Given the description of an element on the screen output the (x, y) to click on. 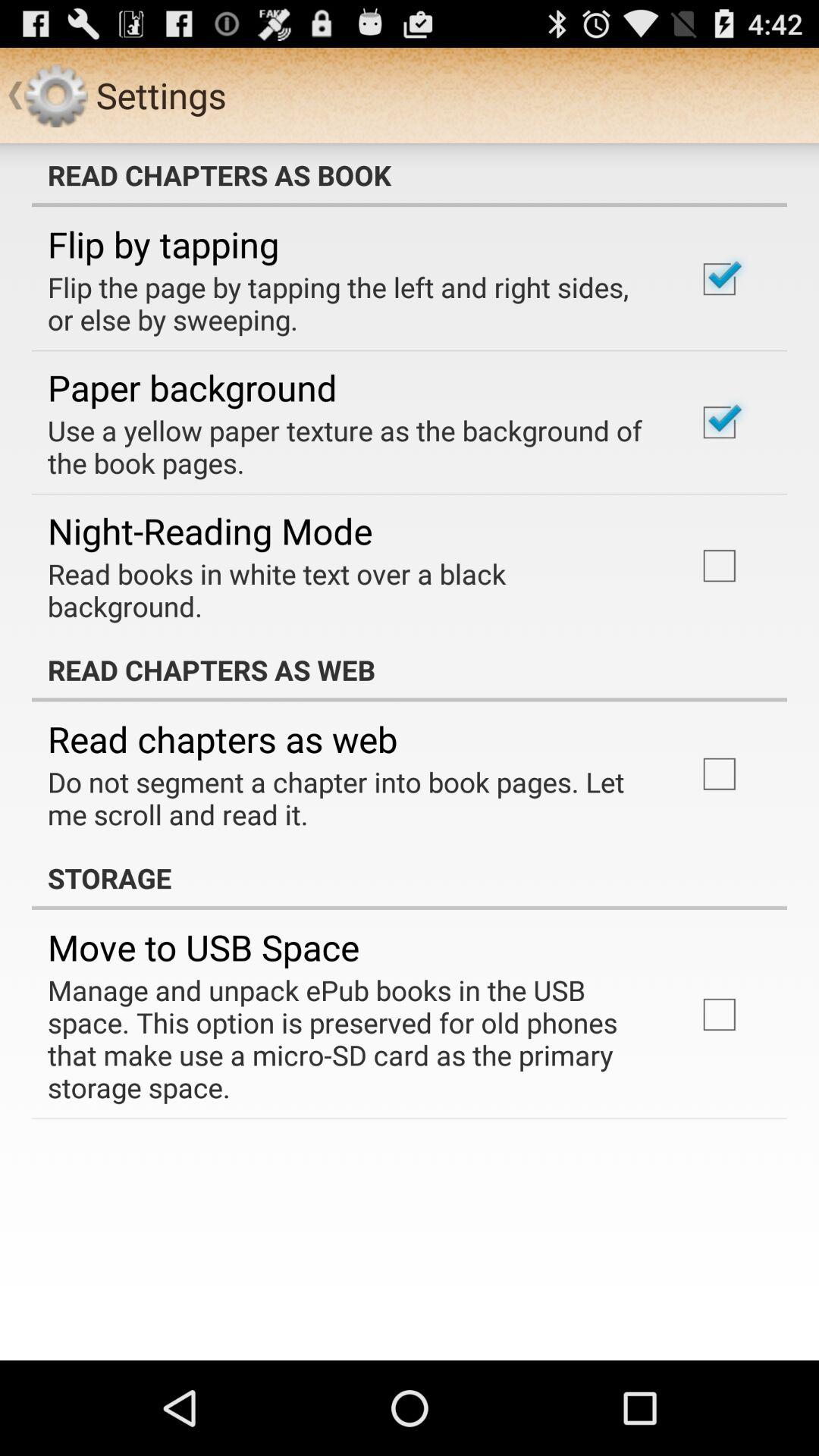
turn off the night-reading mode icon (209, 530)
